Given the description of an element on the screen output the (x, y) to click on. 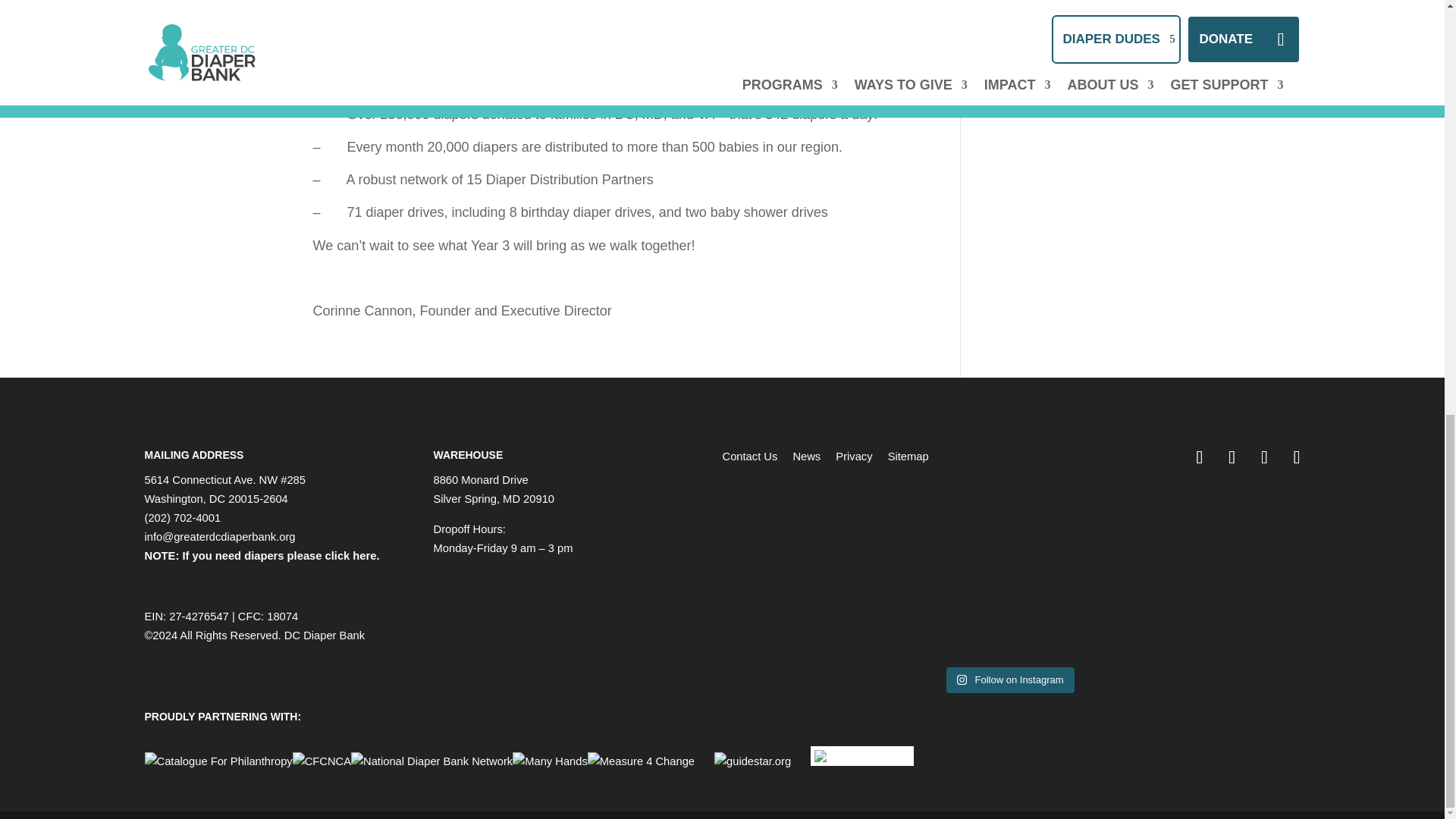
Privacy (853, 456)
News (806, 456)
Contact Us (749, 456)
please click here (331, 555)
